Given the description of an element on the screen output the (x, y) to click on. 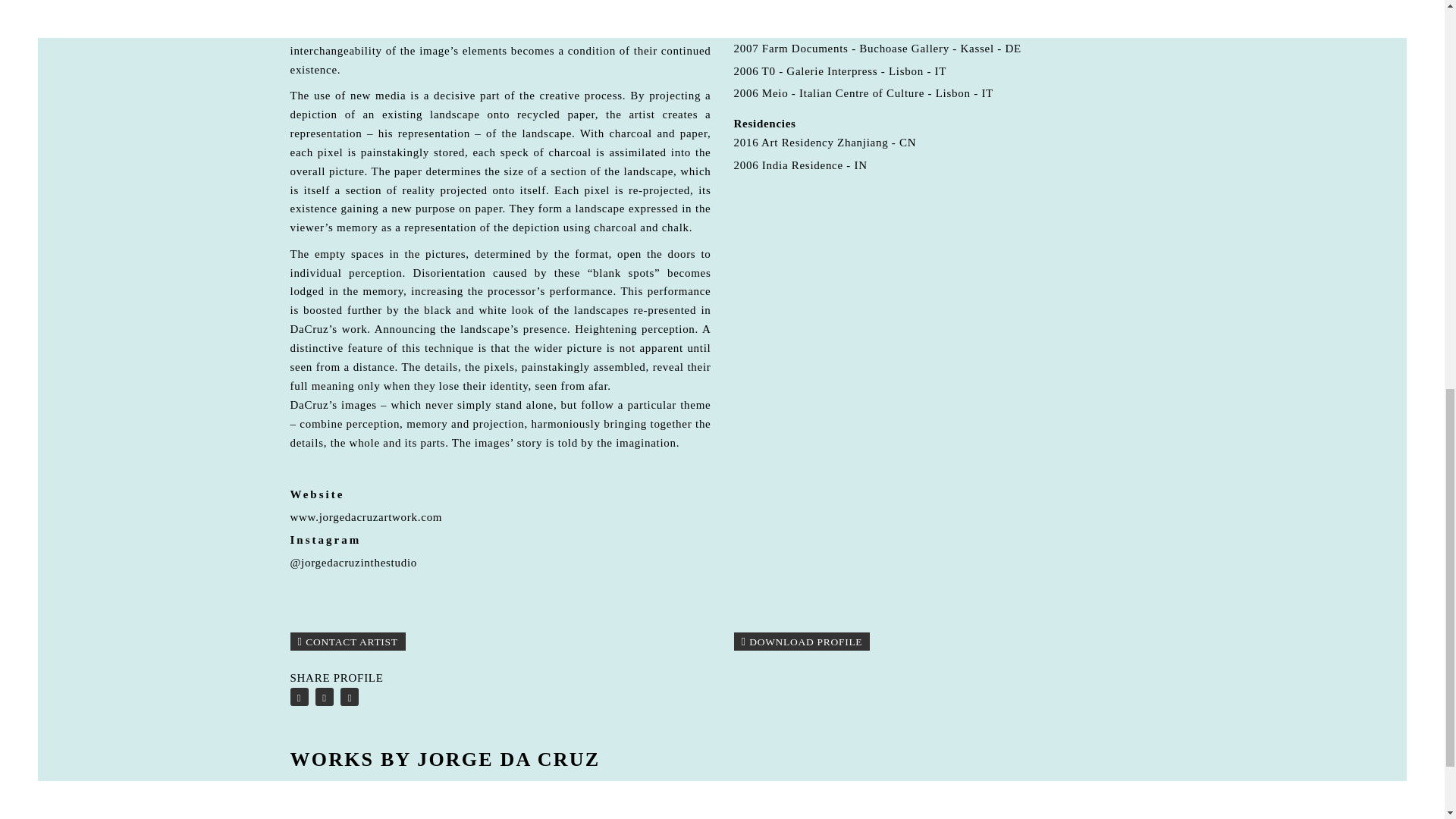
DOWNLOAD PROFILE (801, 641)
www.jorgedacruzartwork.com (365, 517)
CONTACT ARTIST (346, 641)
